Given the description of an element on the screen output the (x, y) to click on. 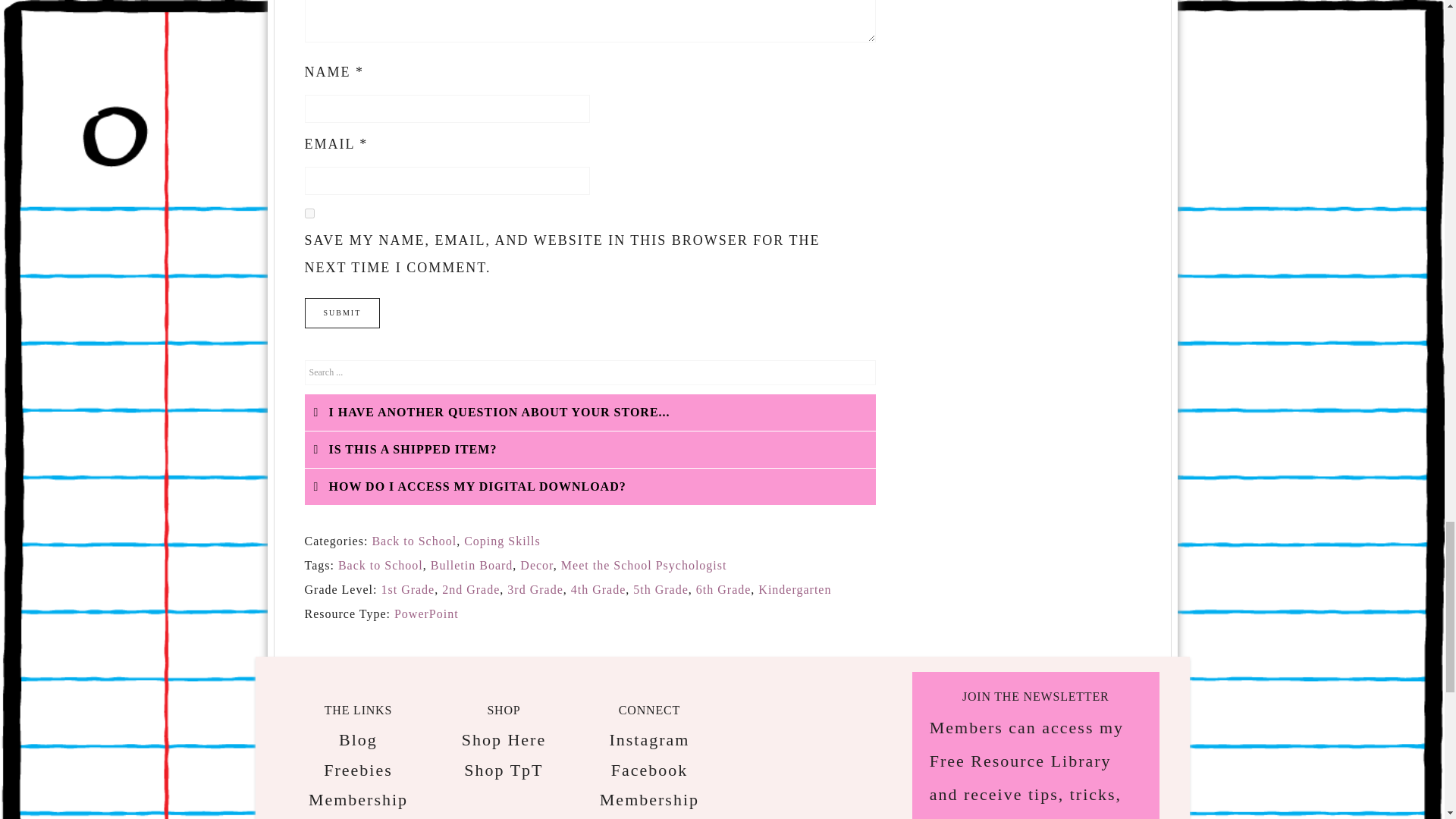
Submit (342, 313)
How do I access my digital download? (590, 486)
yes (309, 213)
Submit (342, 313)
I have another question about your store... (590, 411)
Is this a shipped item? (590, 449)
